Given the description of an element on the screen output the (x, y) to click on. 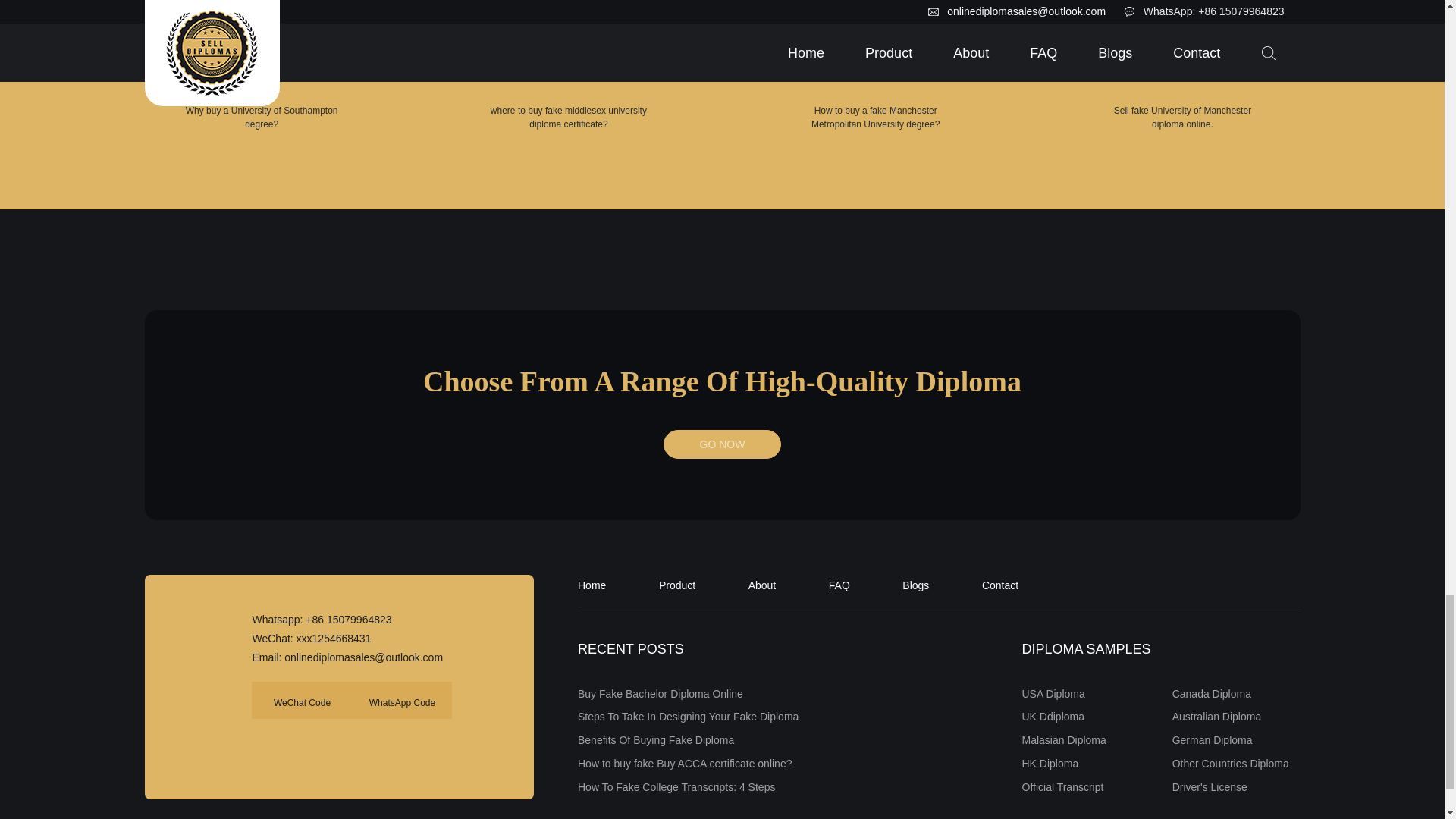
Contact (999, 585)
How to buy a fake Manchester Metropolitan University degree? (876, 42)
Blogs (915, 585)
GO NOW (721, 443)
FAQ (839, 585)
How to buy a fake Manchester Metropolitan University degree? (875, 65)
Why buy a University of Southampton degree? (261, 65)
Sell fake University of Manchester diploma online. (1182, 65)
Why buy a University of Southampton degree? (261, 42)
Steps To Take In Designing Your Fake Diploma (687, 716)
Product (677, 585)
About (762, 585)
where to buy fake middlesex university diploma certificate? (568, 65)
where to buy fake middlesex university diploma certificate? (569, 42)
Buy Fake Bachelor Diploma Online (660, 693)
